Given the description of an element on the screen output the (x, y) to click on. 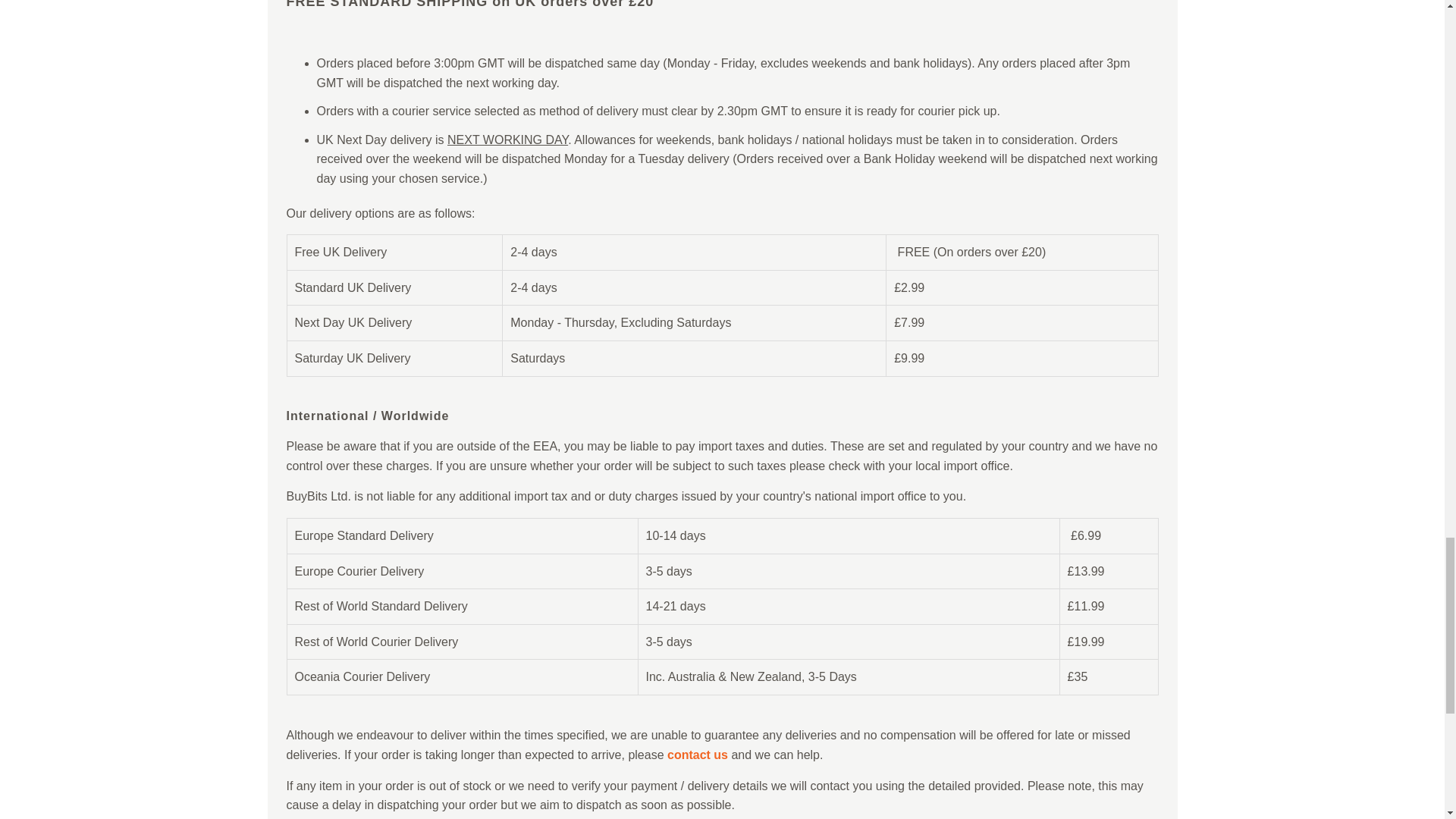
Contact Us (697, 754)
